Given the description of an element on the screen output the (x, y) to click on. 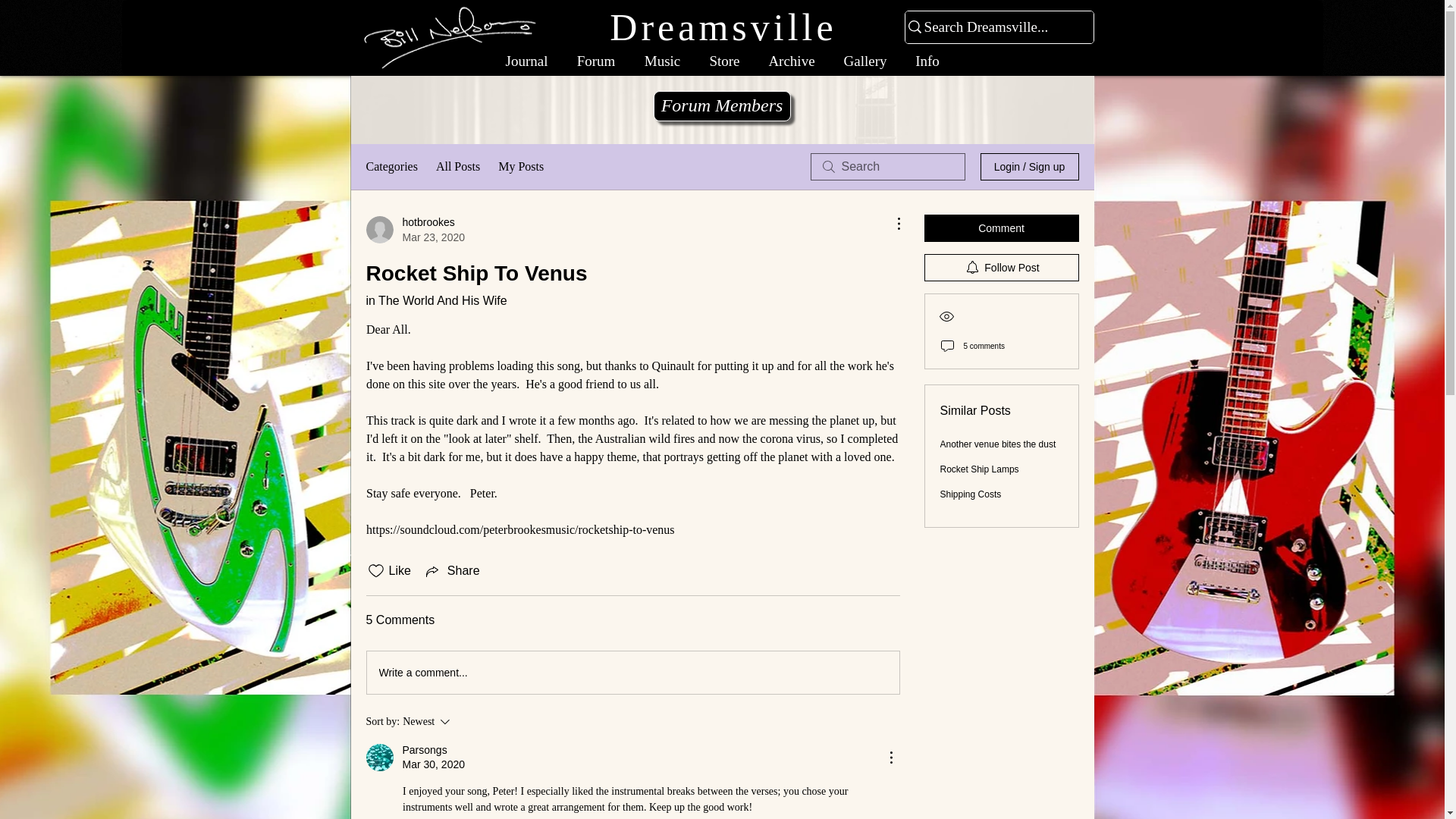
Music (661, 60)
Write a comment... (632, 672)
Info (927, 60)
Forum Members (721, 105)
Parsongs (423, 749)
Gallery (865, 60)
Forum (596, 60)
All Posts (457, 167)
in The World And His Wife (414, 229)
